Given the description of an element on the screen output the (x, y) to click on. 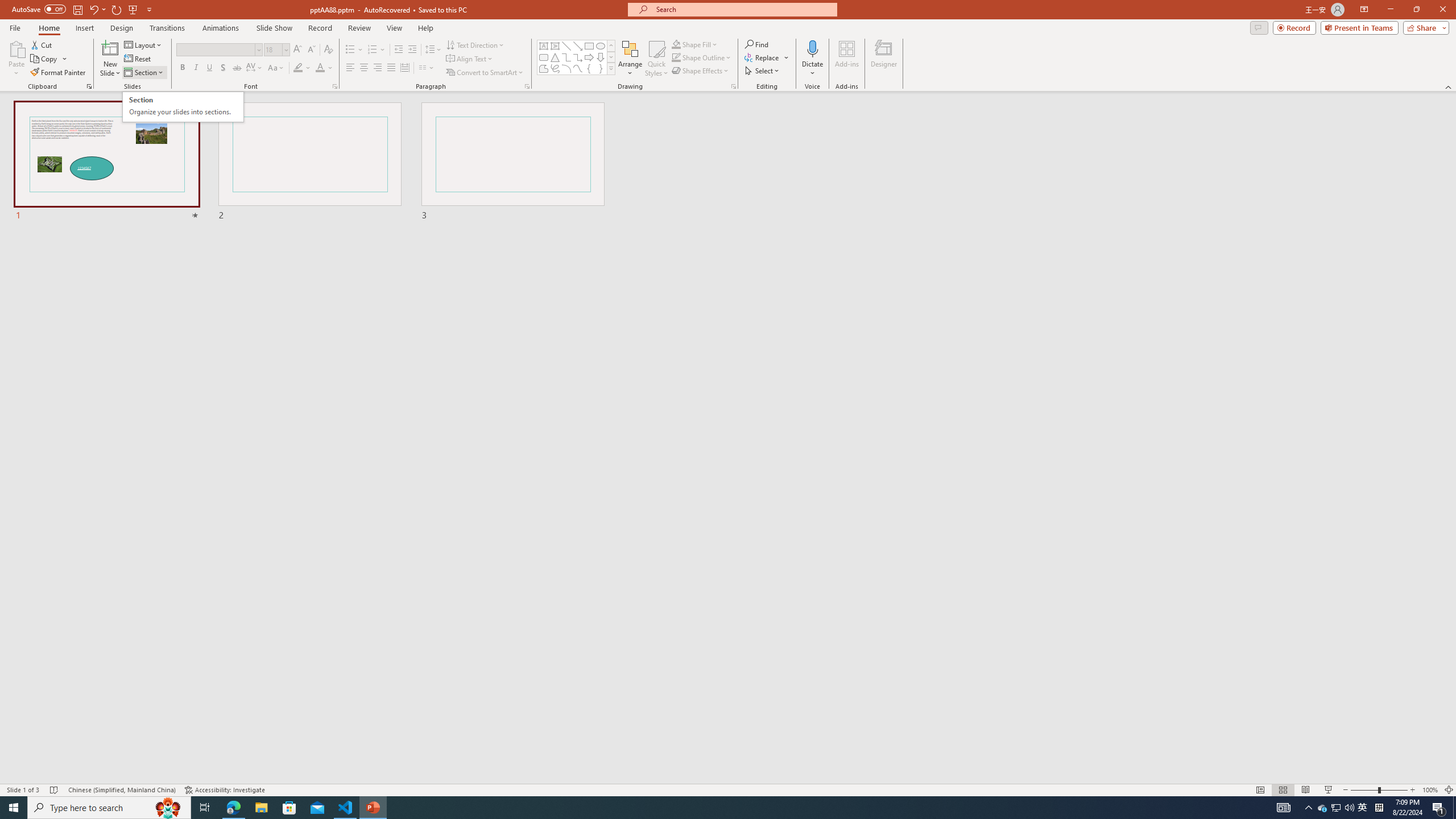
Shape Outline Teal, Accent 1 (675, 56)
